Given the description of an element on the screen output the (x, y) to click on. 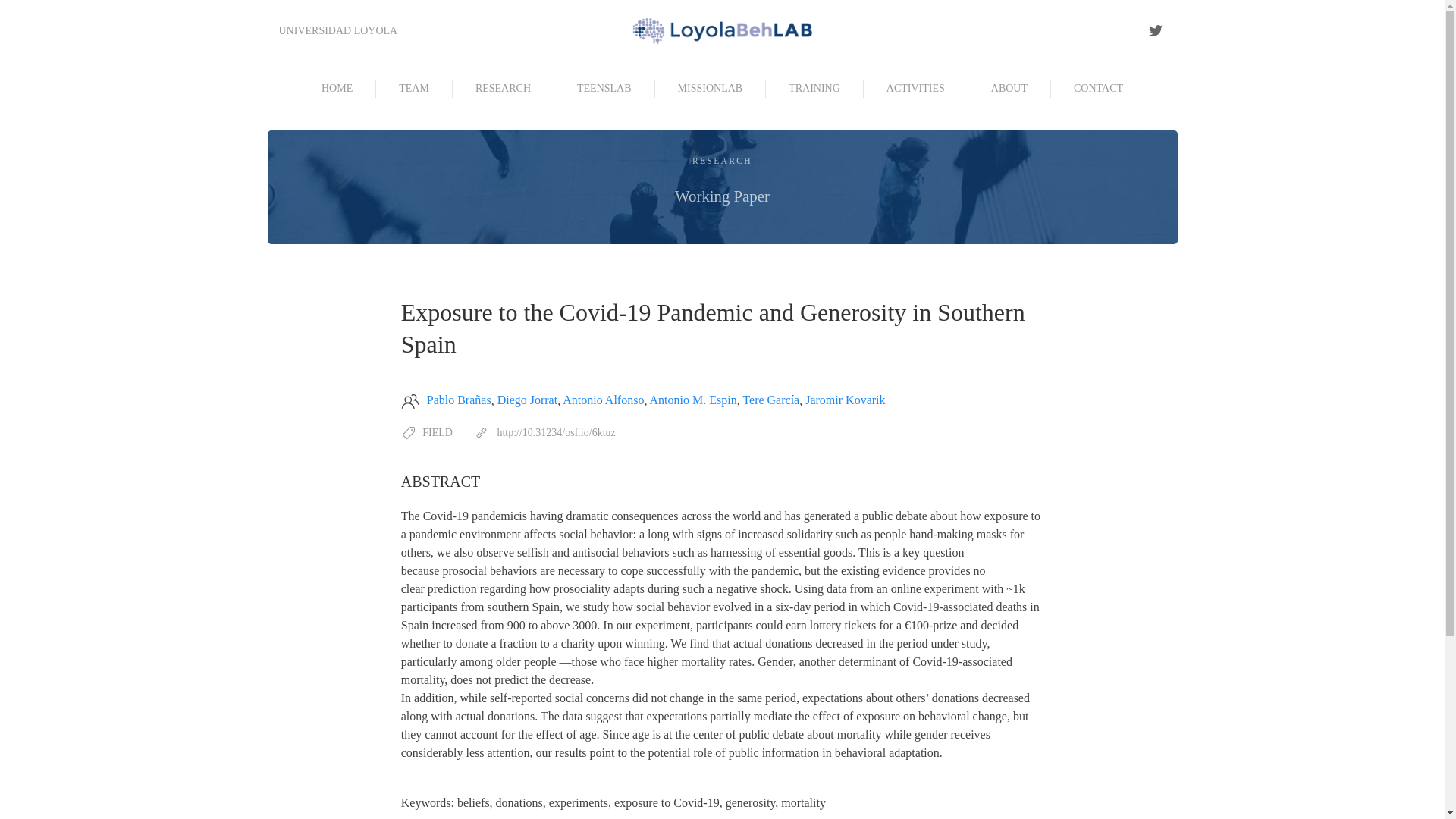
Antonio M. Espin (692, 400)
Jaromir Kovarik (722, 186)
TRAINING (845, 400)
RESEARCH (813, 87)
MISSIONLAB (502, 87)
FIELD (710, 87)
CONTACT (437, 432)
ACTIVITIES (1098, 87)
TEAM (915, 87)
